Given the description of an element on the screen output the (x, y) to click on. 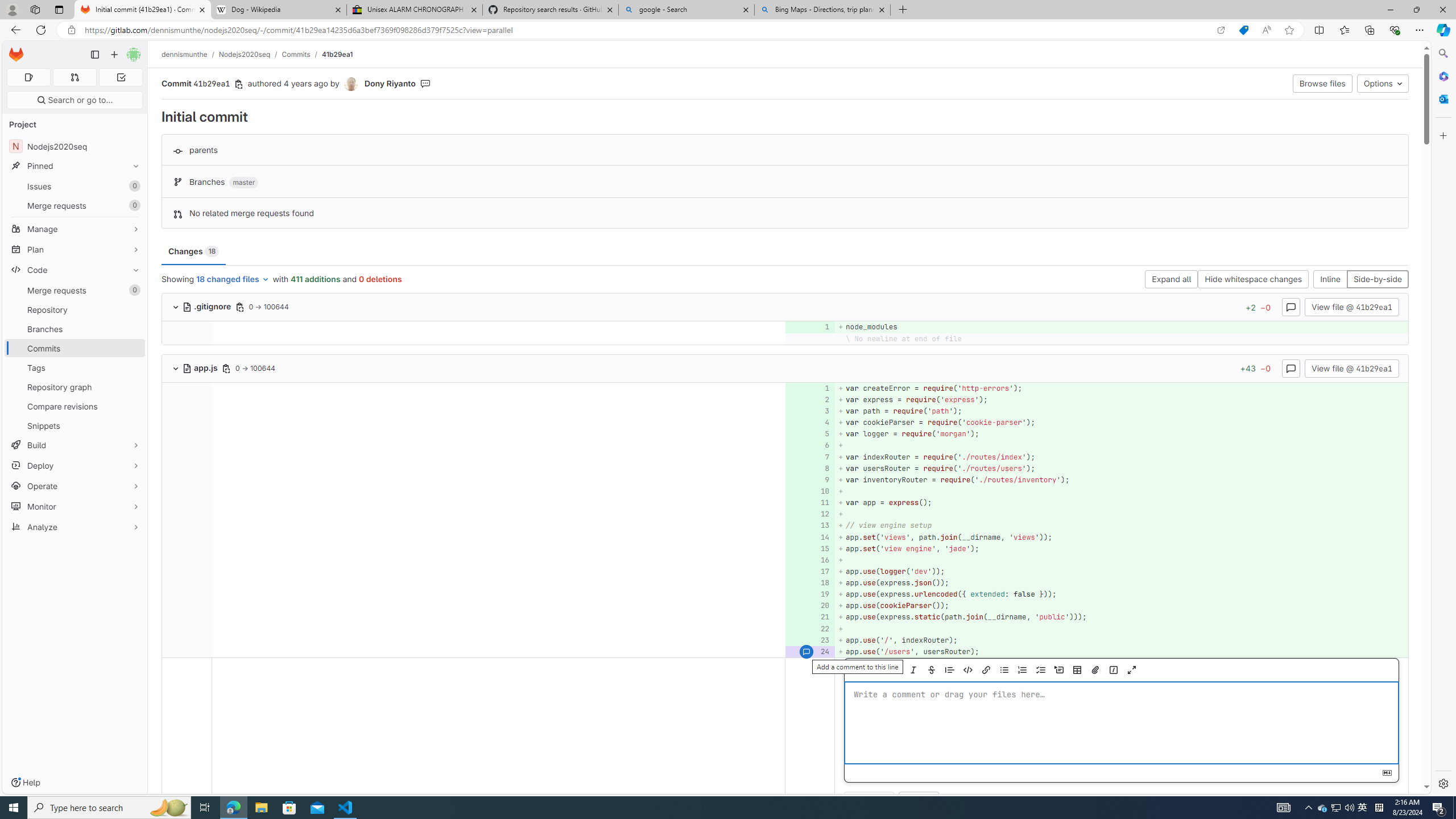
Add a comment to this line 3 (809, 410)
+ var inventoryRouter = require('./routes/inventory');  (1120, 479)
Add a collapsible section (1058, 670)
Add italic text (Ctrl+I) (912, 670)
Toggle comments for this file (1290, 367)
Add a comment to this line 7 (809, 456)
